Given the description of an element on the screen output the (x, y) to click on. 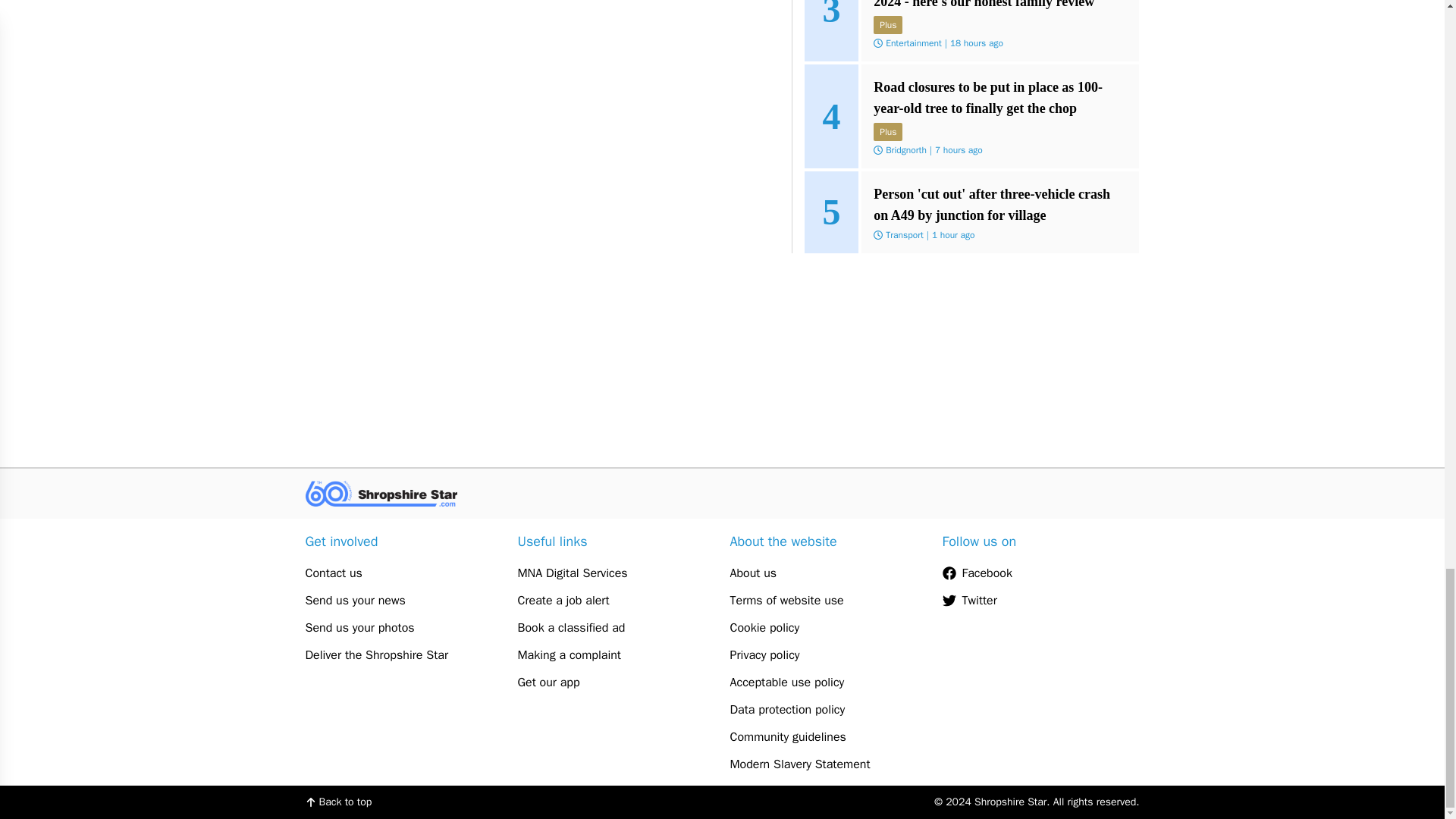
Entertainment (913, 42)
Transport (904, 234)
Bridgnorth (905, 150)
